Given the description of an element on the screen output the (x, y) to click on. 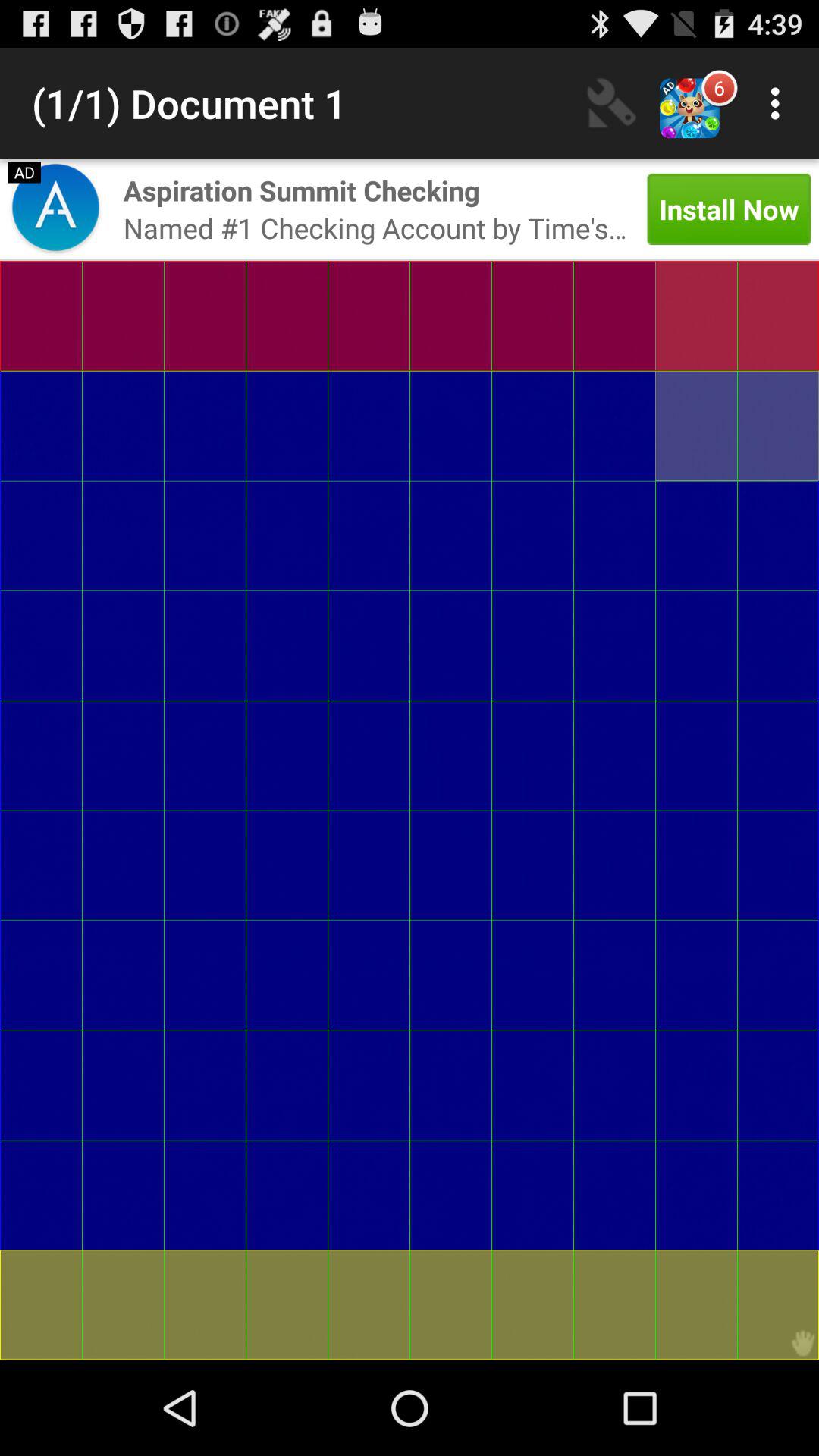
turn off item below 1 1 document (55, 209)
